Given the description of an element on the screen output the (x, y) to click on. 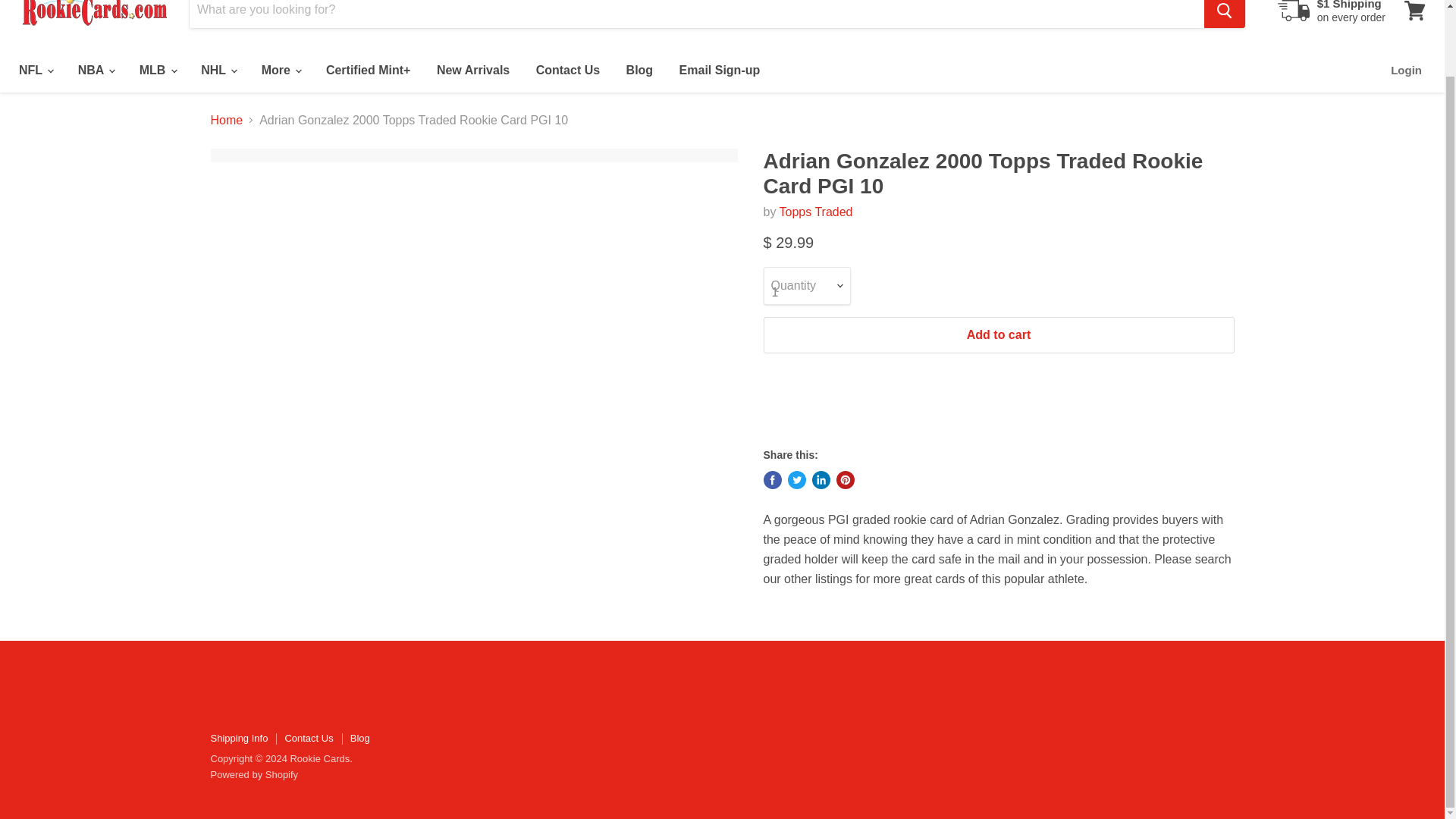
NFL (34, 70)
Topps Traded (815, 211)
View cart (1414, 13)
